Given the description of an element on the screen output the (x, y) to click on. 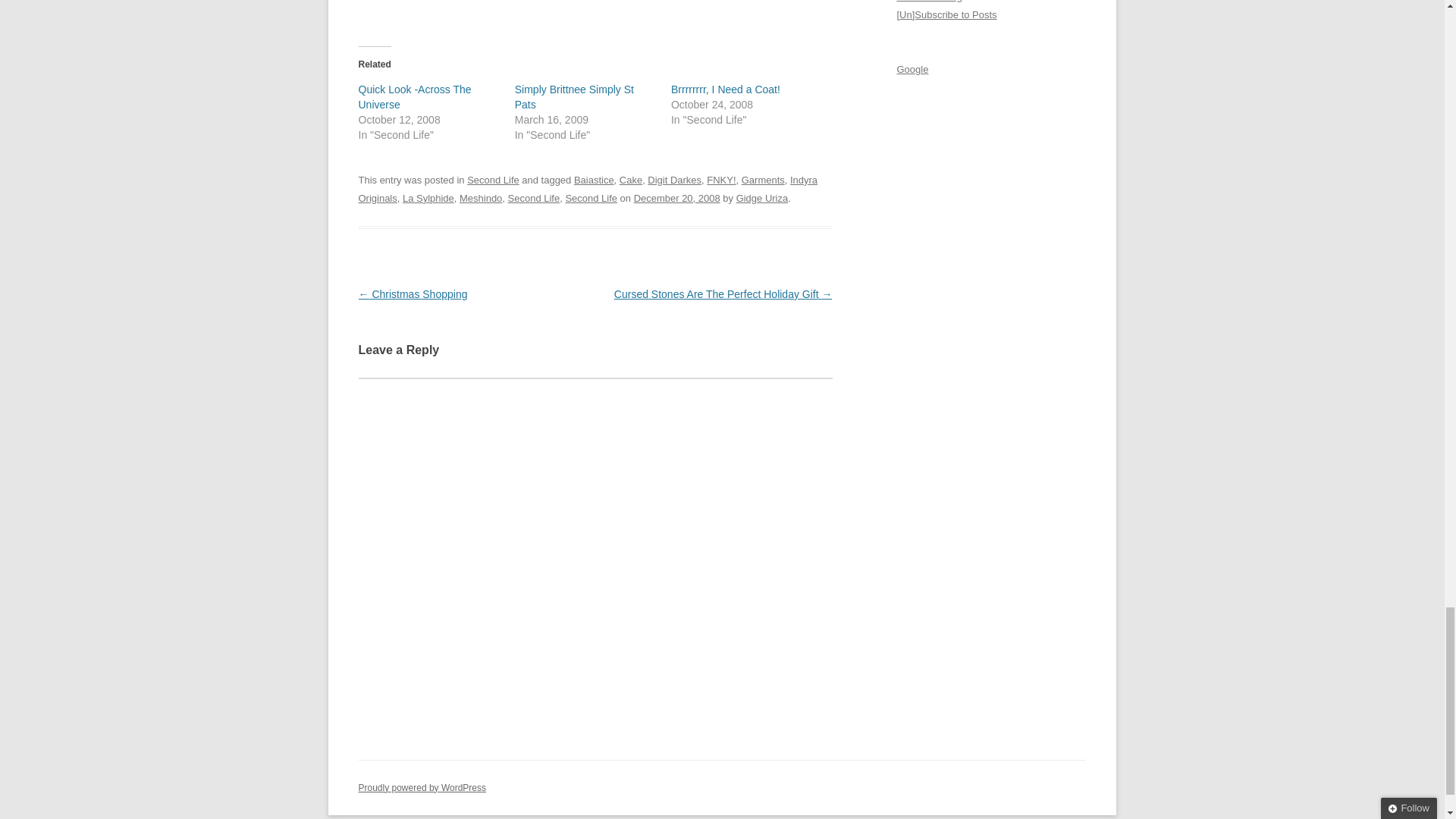
View all posts by Gidge Uriza (762, 197)
Brrrrrrrr, I Need a Coat! (725, 89)
Second Life (590, 197)
FNKY! (720, 179)
Indyra Originals (587, 188)
Simply Brittnee Simply St Pats (574, 96)
Second Life (493, 179)
Meshindo (481, 197)
Brrrrrrrr, I Need a Coat! (725, 89)
